Given the description of an element on the screen output the (x, y) to click on. 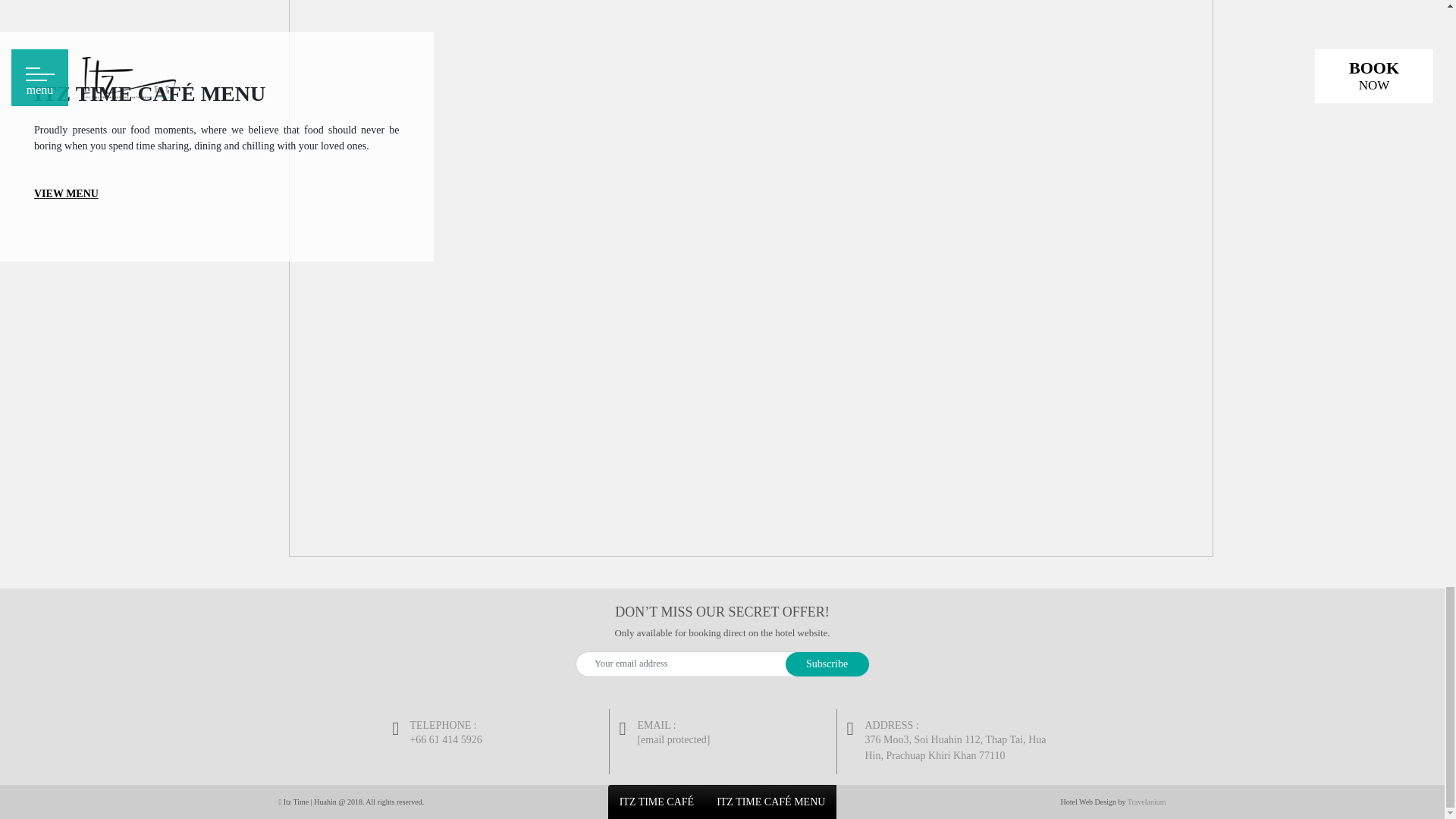
VIEW MENU (66, 193)
Travelanium (1146, 801)
Subscribe (827, 663)
travelanium (1146, 801)
